Given the description of an element on the screen output the (x, y) to click on. 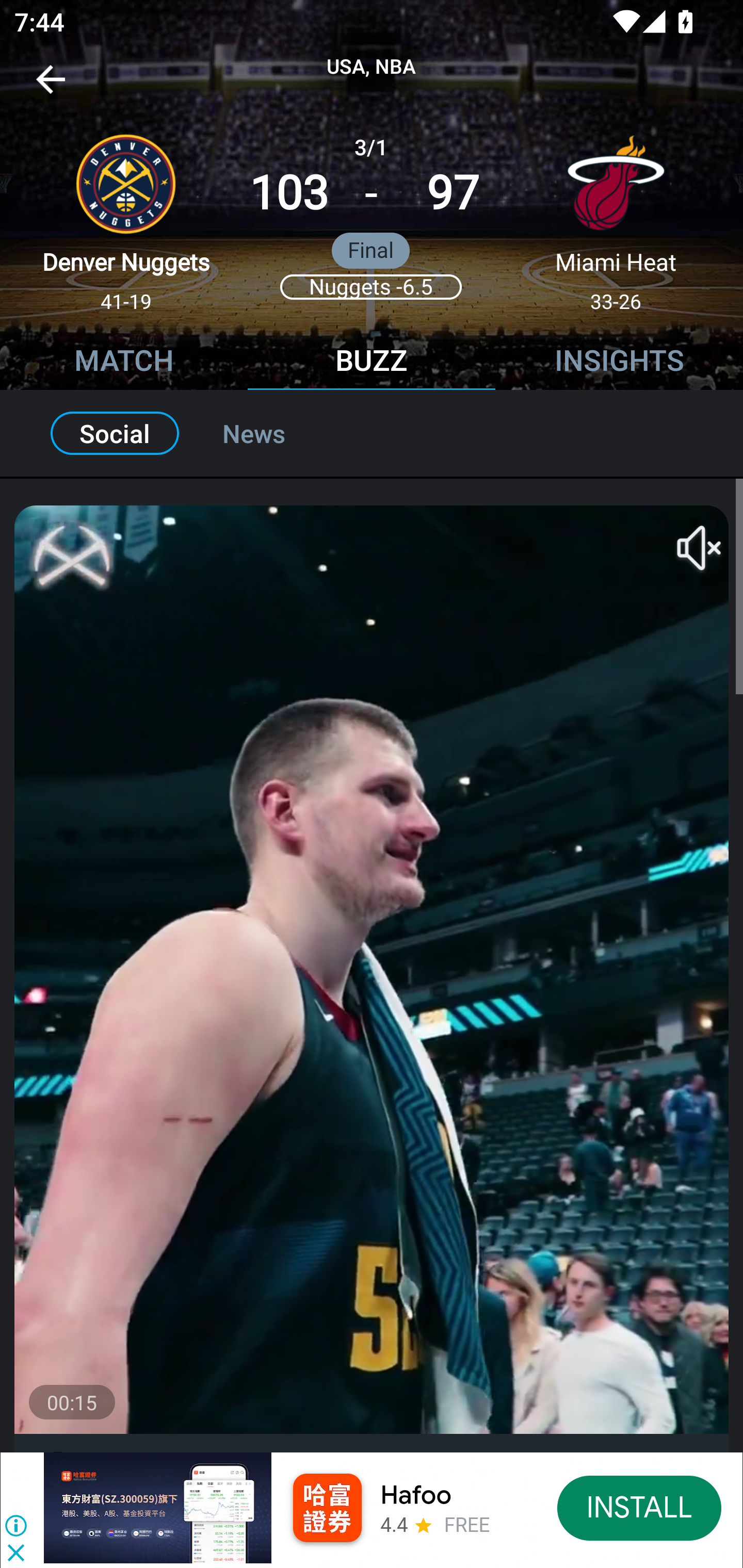
Navigate up (50, 86)
USA, NBA (371, 66)
Denver Nuggets 41-19 (126, 214)
Miami Heat 33-26 (616, 214)
103 (288, 192)
97 (453, 192)
MATCH (123, 362)
BUZZ (371, 362)
INSIGHTS (619, 362)
News (275, 433)
INSTALL (639, 1507)
Hafoo (416, 1494)
